Given the description of an element on the screen output the (x, y) to click on. 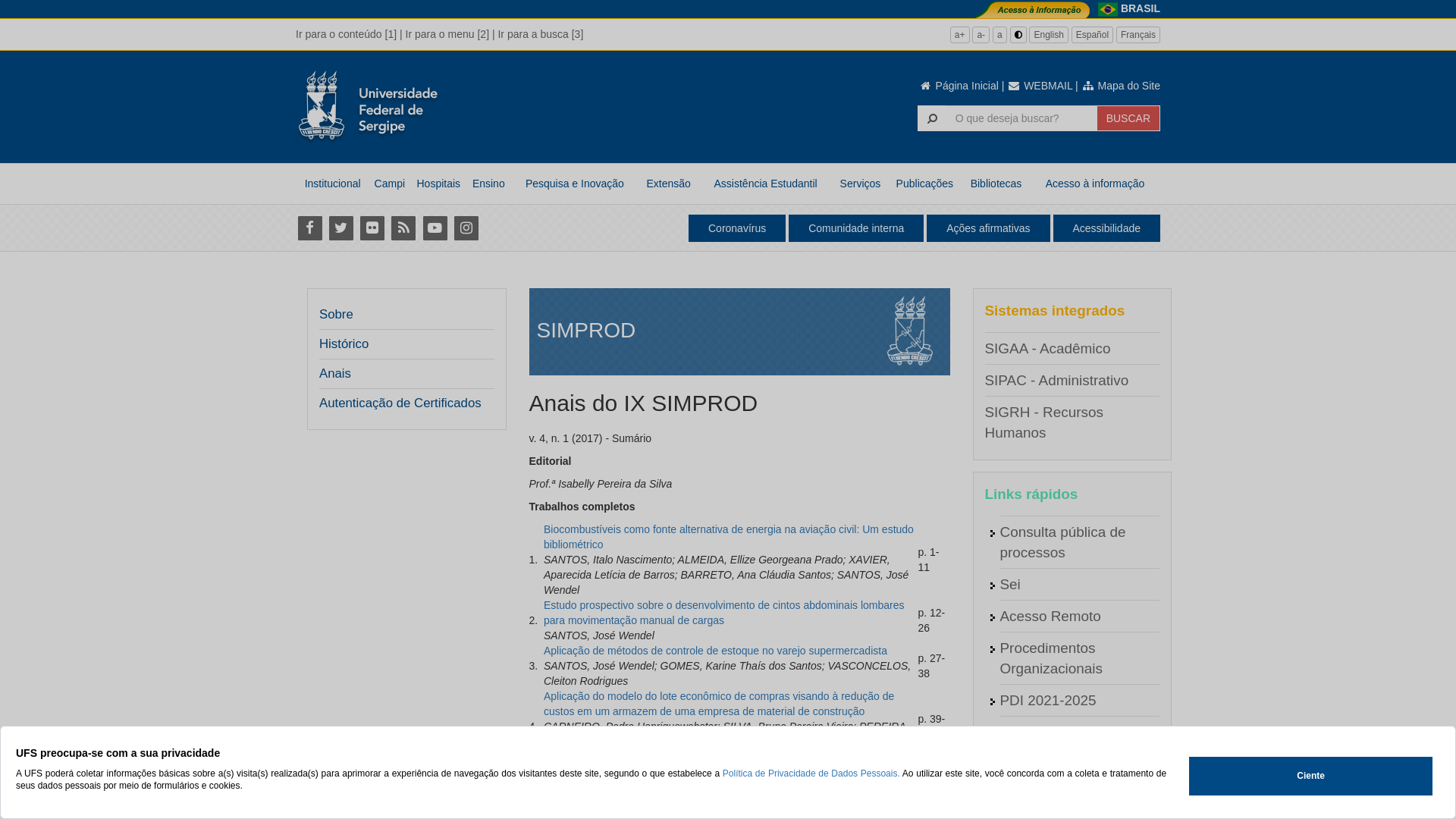
Acesso Remoto Element type: text (1049, 616)
Flickr Element type: text (371, 227)
Agenda do Reitor Element type: text (1054, 732)
a- Element type: text (980, 34)
Sei Element type: text (1009, 584)
Comunidade interna Element type: text (855, 227)
RSS Element type: text (403, 227)
English Element type: text (1048, 34)
Bibliotecas Element type: text (995, 183)
PDI 2021-2025 Element type: text (1047, 700)
BRASIL Element type: text (1140, 8)
SIGRH - Recursos Humanos Element type: text (1043, 422)
Ensino Element type: text (488, 183)
Youtube Element type: text (434, 227)
Acessibilidade Element type: text (1106, 227)
BUSCAR Element type: text (1128, 118)
Institucional Element type: text (332, 183)
Agenda do Vice-Reitor Element type: text (1071, 763)
Hospitais Element type: text (438, 183)
Mapa do Site Element type: text (1120, 85)
a Element type: text (999, 34)
Telefones Element type: text (1029, 795)
Campi Element type: text (389, 183)
Procedimentos Organizacionais Element type: text (1050, 658)
WEBMAIL Element type: text (1039, 85)
Twitter Element type: text (340, 227)
Anais Element type: text (335, 373)
Ir para a busca [3] Element type: text (540, 34)
a+ Element type: text (959, 34)
Ir para o menu [2] Element type: text (447, 34)
Facebook Element type: text (309, 227)
Sobre Element type: text (336, 314)
SIPAC - Administrativo Element type: text (1056, 380)
Instagram Element type: text (465, 227)
